Given the description of an element on the screen output the (x, y) to click on. 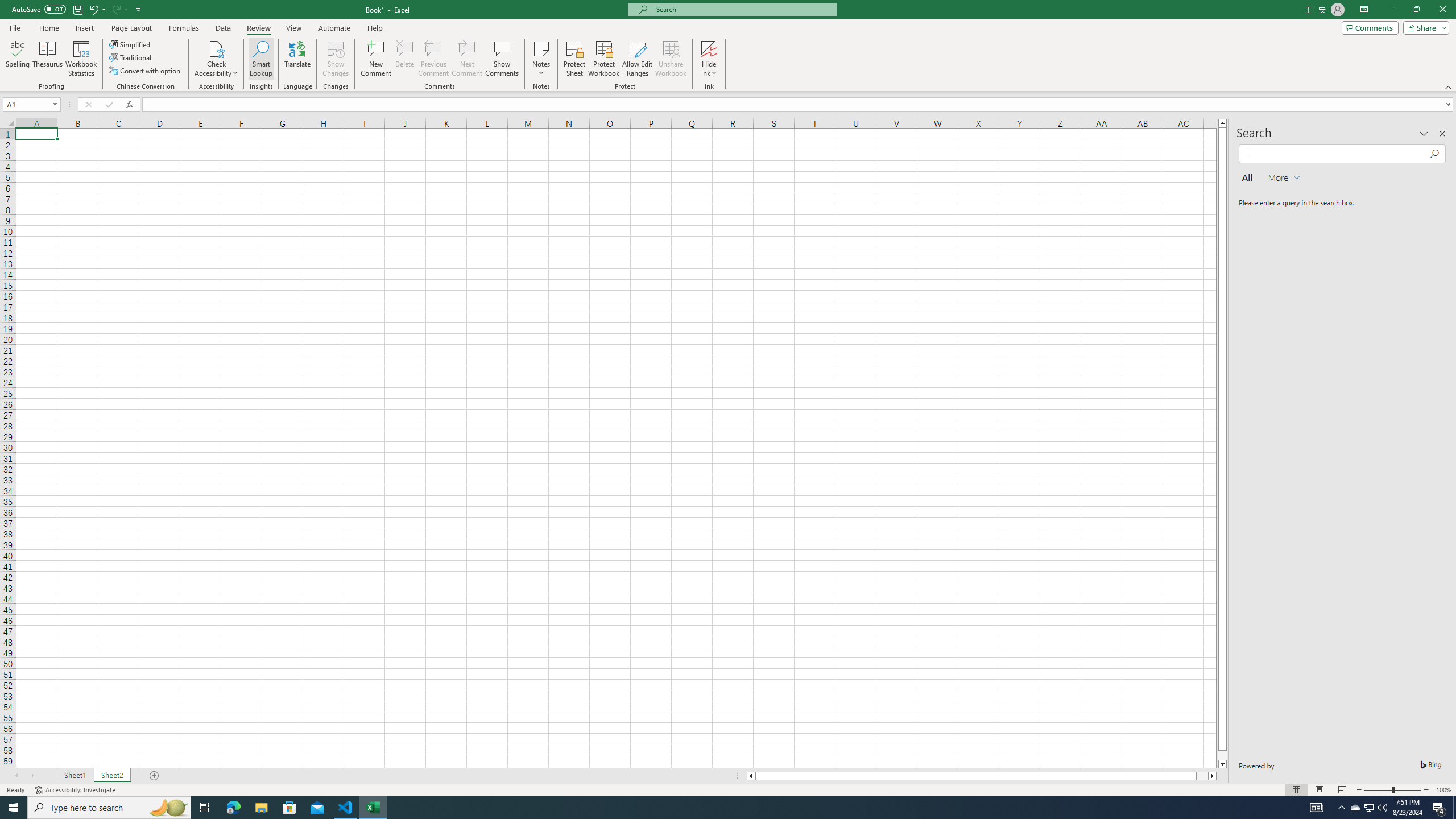
Check Accessibility (215, 58)
